Given the description of an element on the screen output the (x, y) to click on. 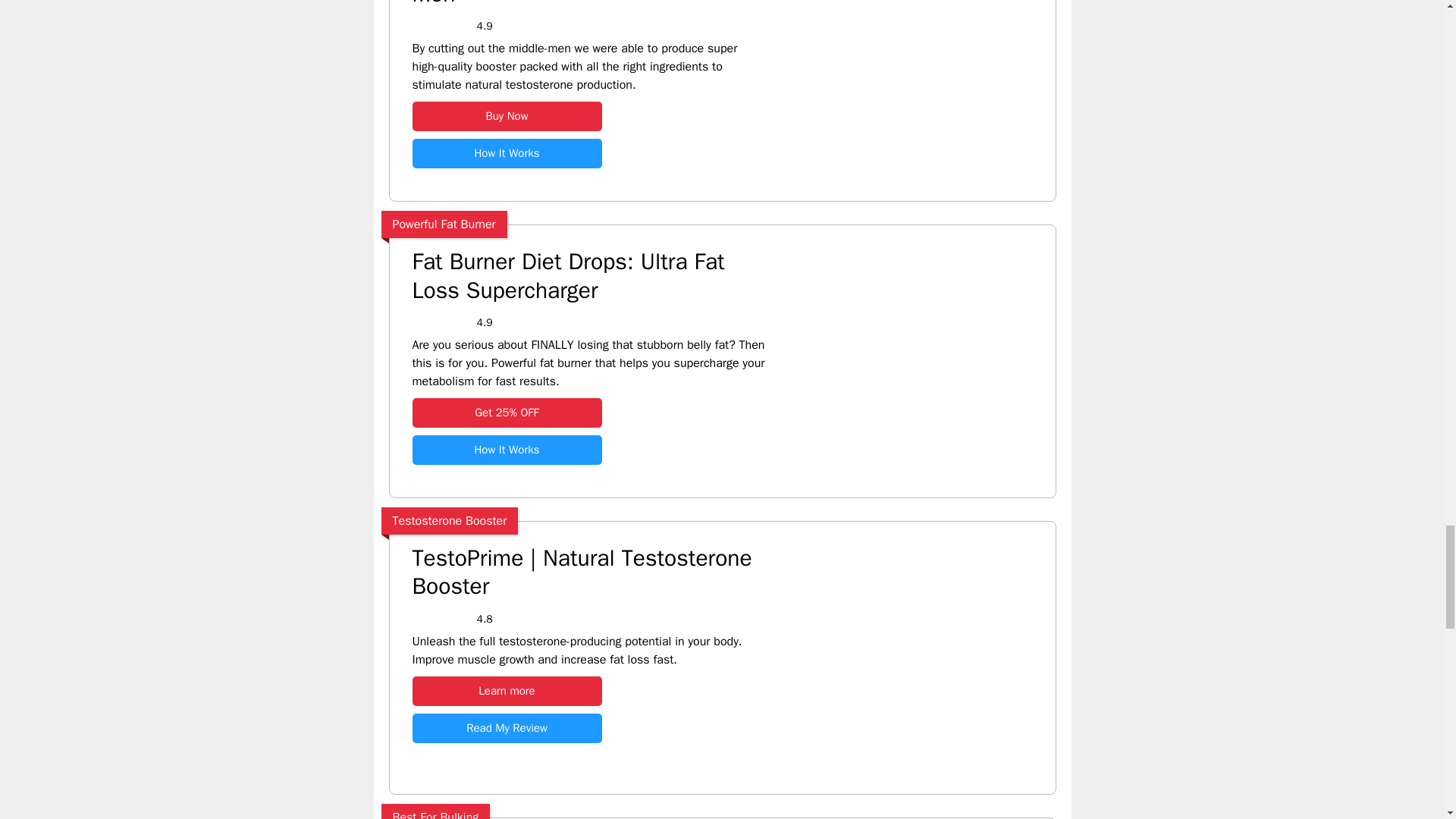
Natural Testosterone Booster For Men (921, 195)
Natural Testosterone Booster For Men (507, 116)
Natural Testosterone Booster For Men (589, 4)
